Given the description of an element on the screen output the (x, y) to click on. 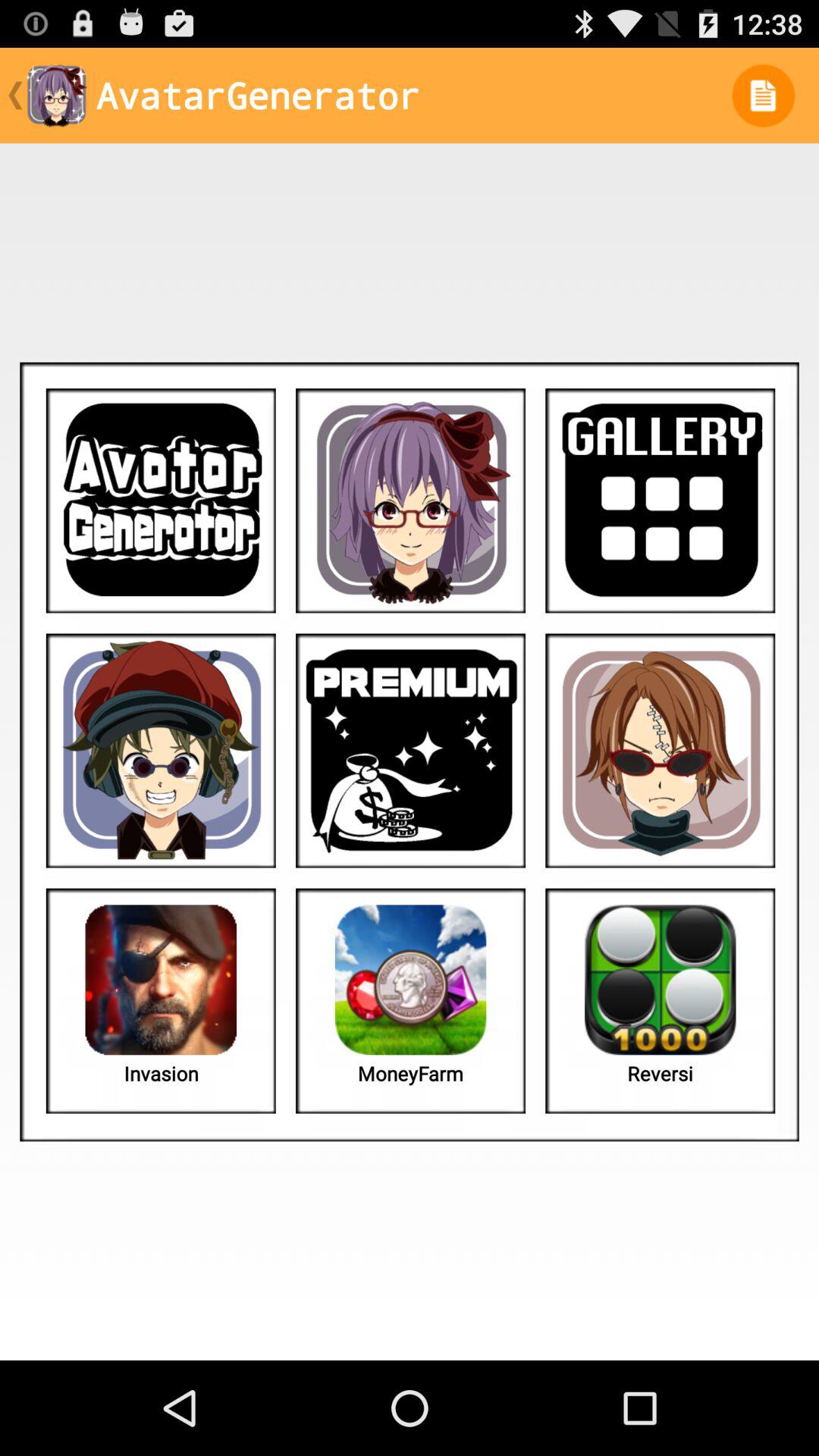
choose the avatar (160, 750)
